Given the description of an element on the screen output the (x, y) to click on. 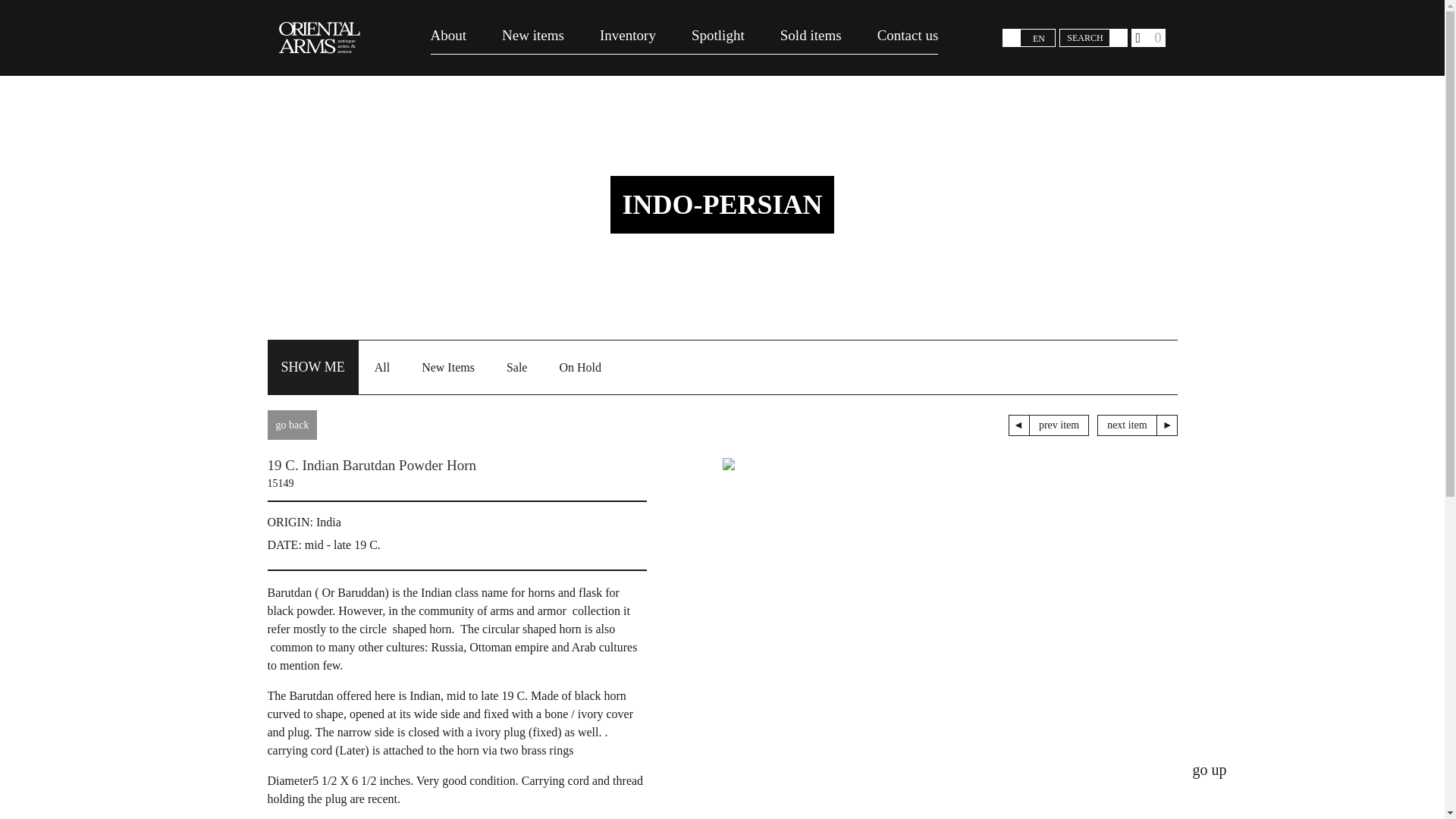
New Items (448, 366)
Sold items (810, 37)
Search (1117, 37)
On Hold (579, 366)
Search (1117, 37)
Sale (516, 366)
prev item (1049, 424)
next item (1136, 424)
go up (1208, 769)
All (382, 366)
Spotlight (717, 37)
Search (1117, 37)
0 items (1148, 37)
go up (1208, 769)
About (448, 37)
